Given the description of an element on the screen output the (x, y) to click on. 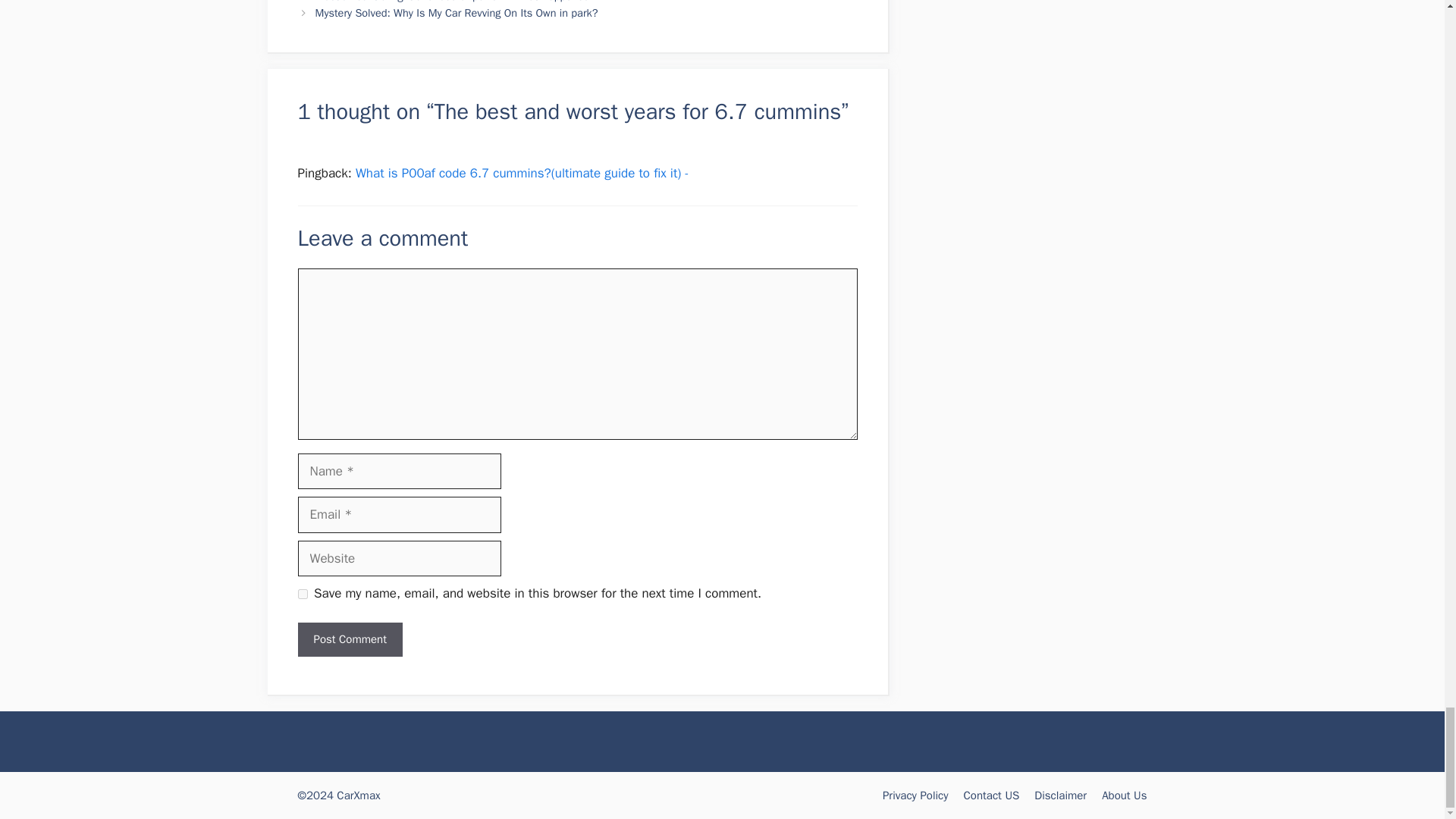
Post Comment (349, 639)
yes (302, 593)
Mystery Solved: Why Is My Car Revving On Its Own in park? (456, 12)
